Given the description of an element on the screen output the (x, y) to click on. 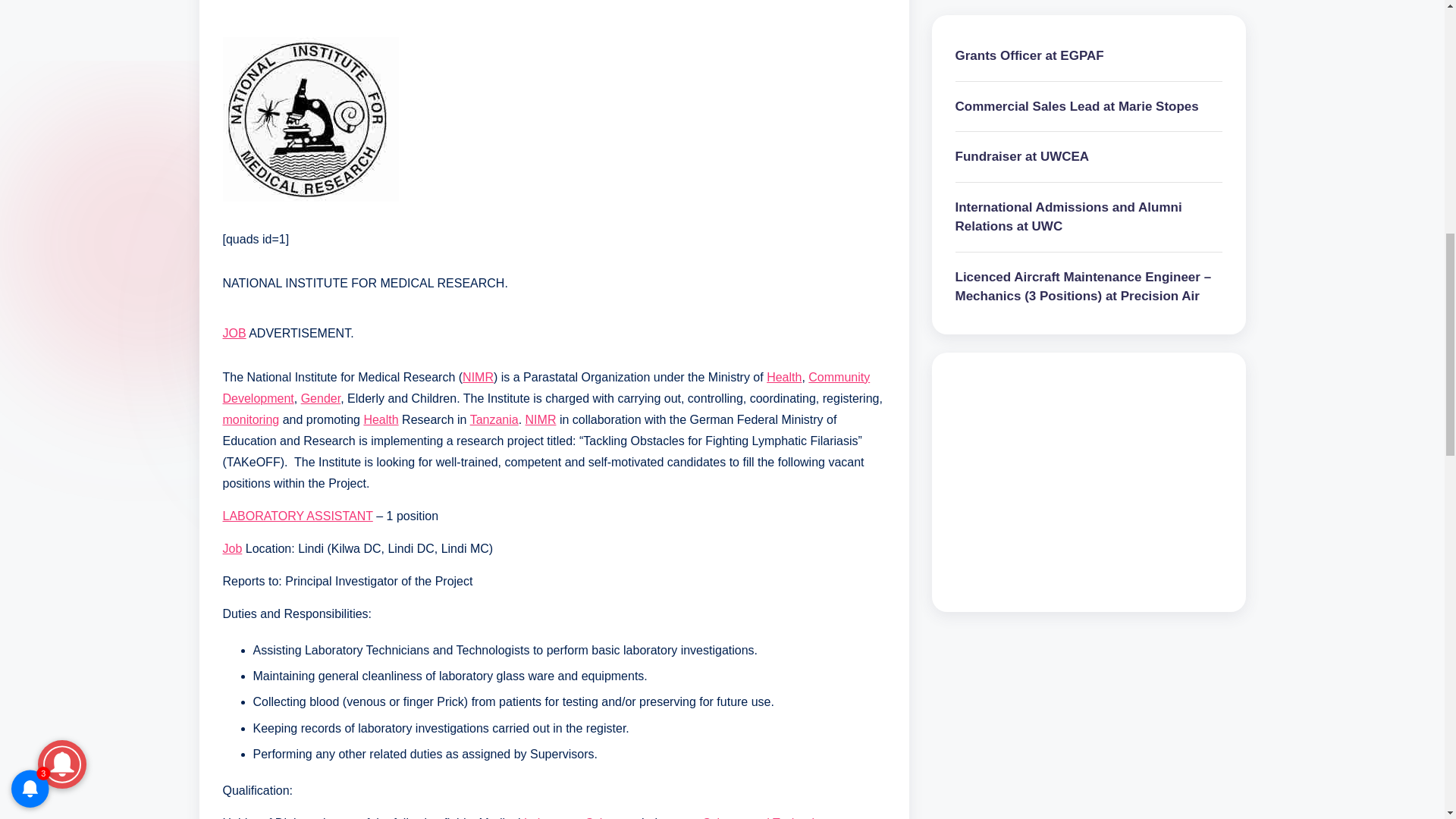
NIMR (478, 377)
Gender (320, 398)
Community Development (546, 387)
Health (784, 377)
Health (379, 419)
JOB (234, 332)
Tanzania (494, 419)
monitoring (250, 419)
NIMR (540, 419)
